Given the description of an element on the screen output the (x, y) to click on. 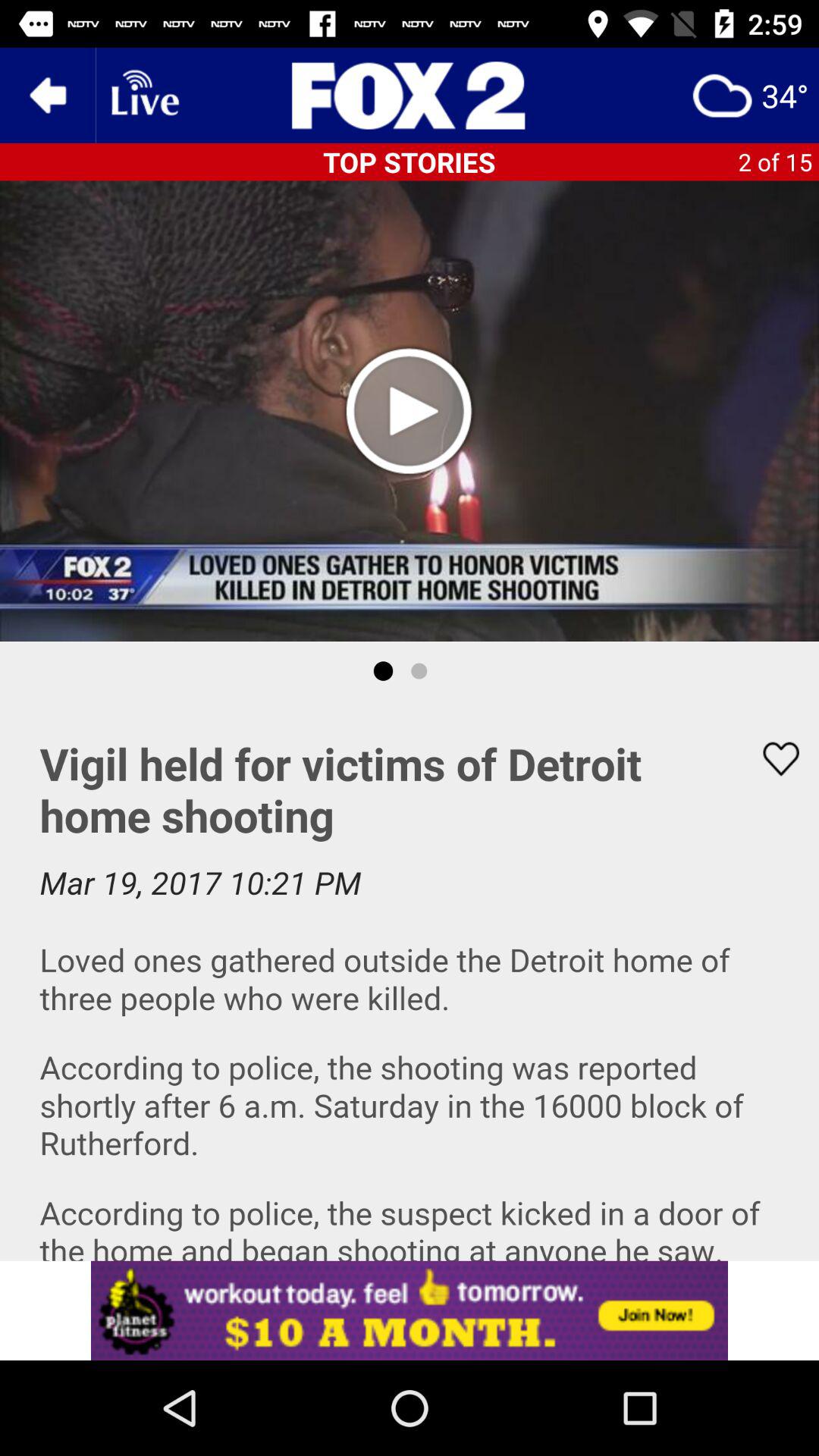
favor (771, 758)
